Given the description of an element on the screen output the (x, y) to click on. 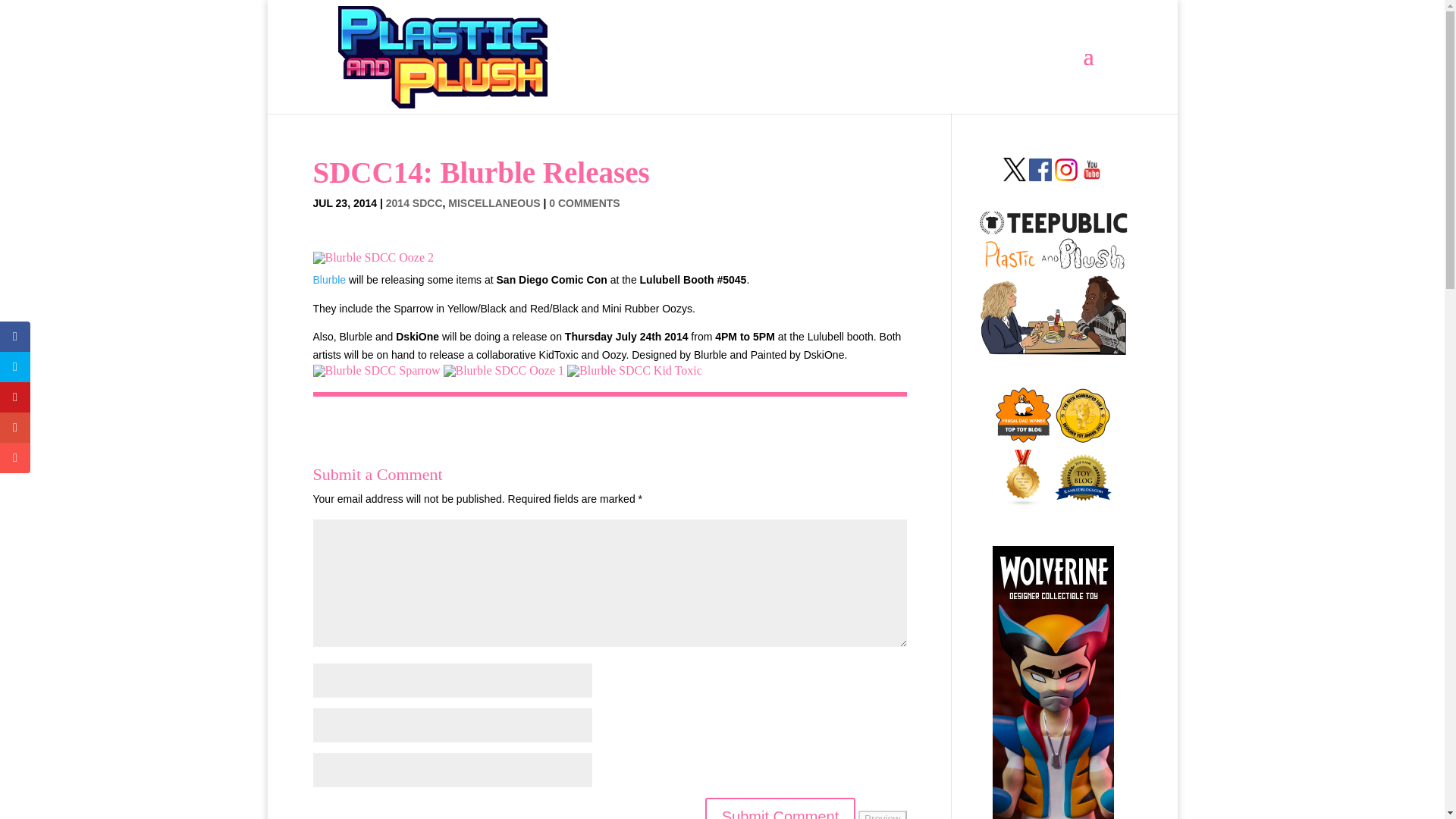
Preview (882, 814)
0 COMMENTS (584, 203)
Submit Comment (780, 808)
Toy Blogs (1022, 502)
Blurble (329, 279)
MISCELLANEOUS (494, 203)
Blurble SDCC Ooze 1 (503, 369)
Blurble SDCC Ooze 2 (373, 256)
Blurble SDCC Kid Toxic (634, 369)
2014 SDCC (413, 203)
Submit Comment (780, 808)
Blurble SDCC Sparrow (376, 369)
